Given the description of an element on the screen output the (x, y) to click on. 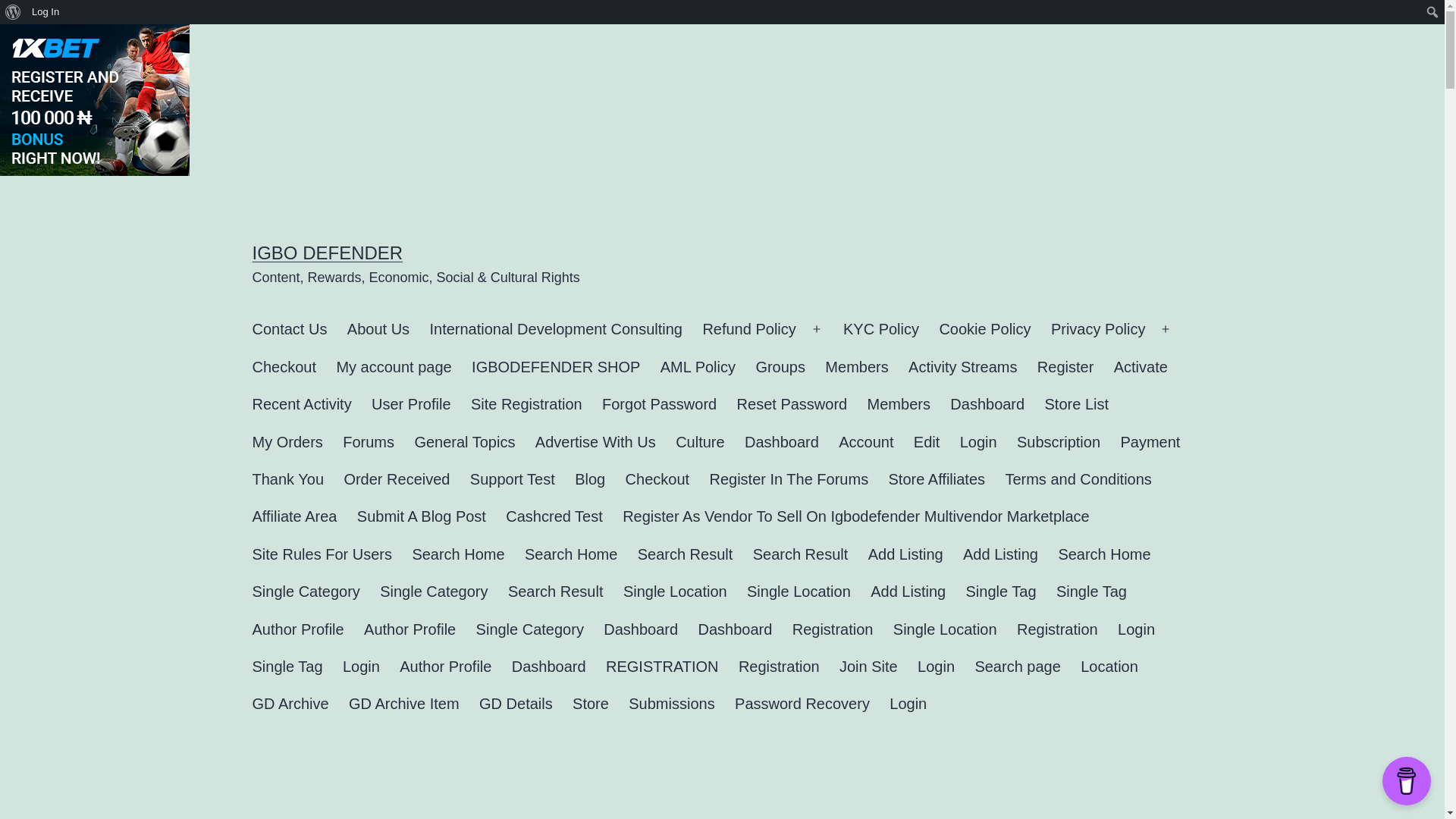
Reset Password (791, 404)
Members (898, 404)
KYC Policy (880, 329)
My Orders (287, 442)
User Profile (411, 404)
Refund Policy (749, 329)
Privacy Policy (1098, 329)
Recent Activity (301, 404)
Cookie Policy (984, 329)
Forums (368, 442)
Site Registration (526, 404)
Search (17, 14)
IGBODEFENDER SHOP (555, 366)
Register (1065, 366)
Store List (1075, 404)
